Given the description of an element on the screen output the (x, y) to click on. 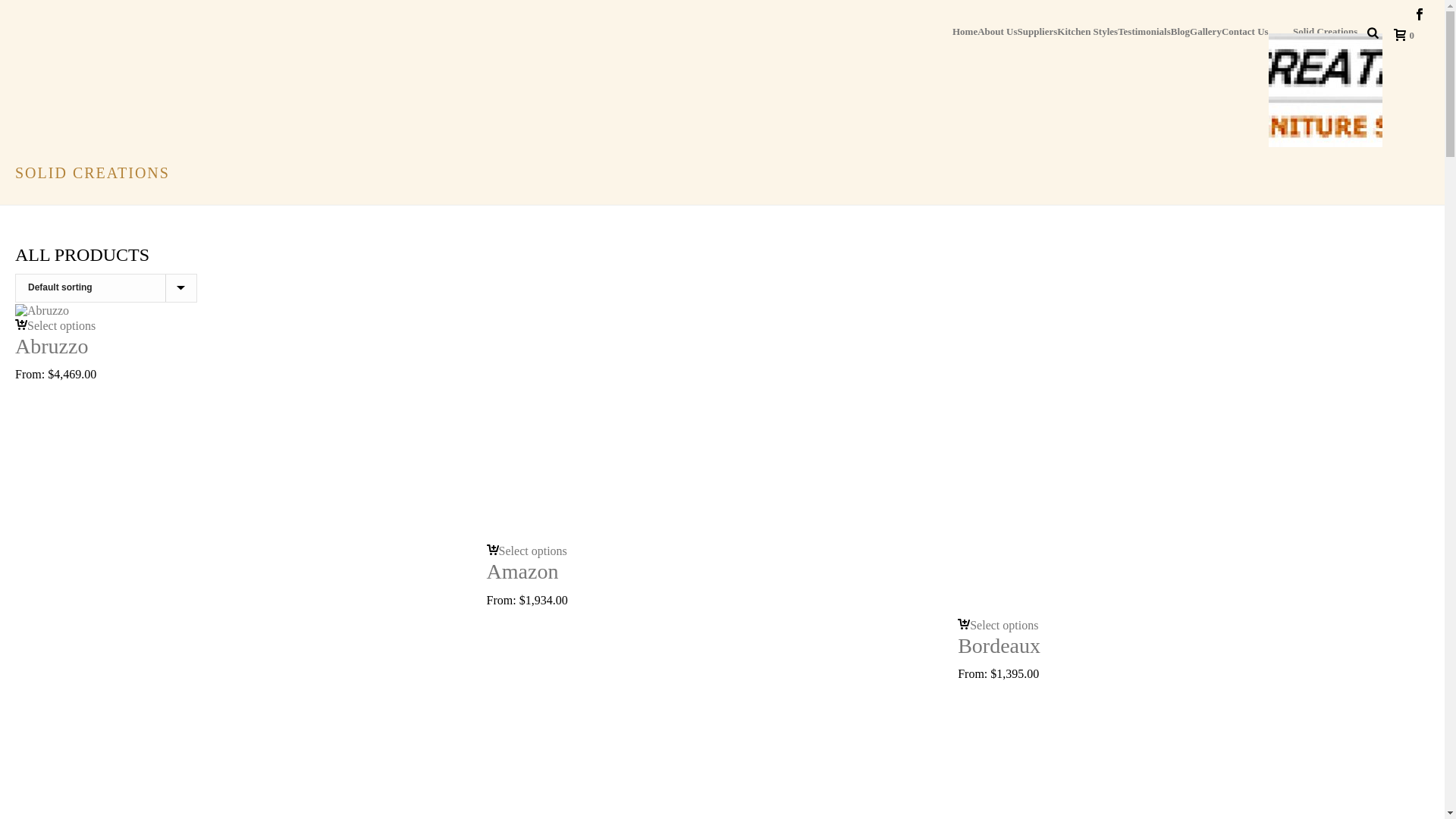
Abruzzo Element type: text (51, 345)
Select options Element type: text (997, 624)
Amazon Element type: hover (705, 422)
Home Element type: text (964, 29)
Select options Element type: text (55, 325)
Gallery Element type: text (1205, 29)
Testimonials Element type: text (1143, 29)
0 Element type: text (1400, 34)
About Us Element type: text (996, 29)
Suppliers Element type: text (1037, 29)
Amazon Element type: text (522, 571)
Solid Creations Element type: text (1325, 86)
Blog Element type: text (1179, 29)
Contact Us Element type: text (1244, 29)
Kitchen Styles Element type: text (1087, 29)
Bordeaux Element type: text (998, 645)
Bordeaux Element type: hover (1193, 459)
Abruzzo Element type: hover (42, 310)
Select options Element type: text (526, 550)
